Given the description of an element on the screen output the (x, y) to click on. 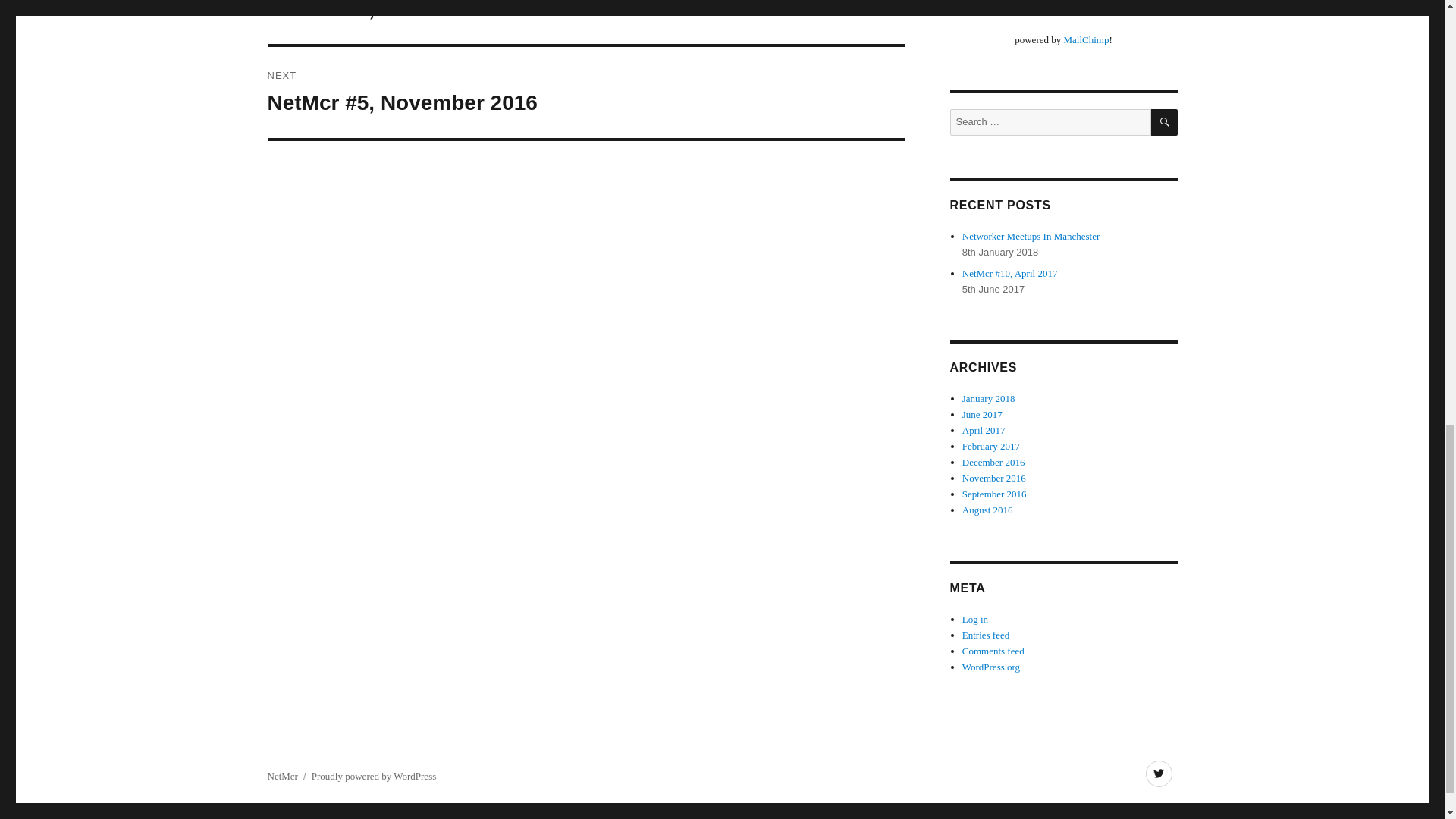
January 2018 (988, 398)
Log in (975, 618)
February 2017 (991, 446)
MailChimp (1085, 39)
unsubscribe from list (1063, 8)
WordPress.org (991, 666)
SEARCH (1164, 121)
Comments feed (993, 650)
August 2016 (987, 509)
June 2017 (982, 414)
December 2016 (993, 461)
April 2017 (984, 430)
September 2016 (994, 493)
Proudly powered by WordPress (373, 776)
Networker Meetups In Manchester (1031, 235)
